Given the description of an element on the screen output the (x, y) to click on. 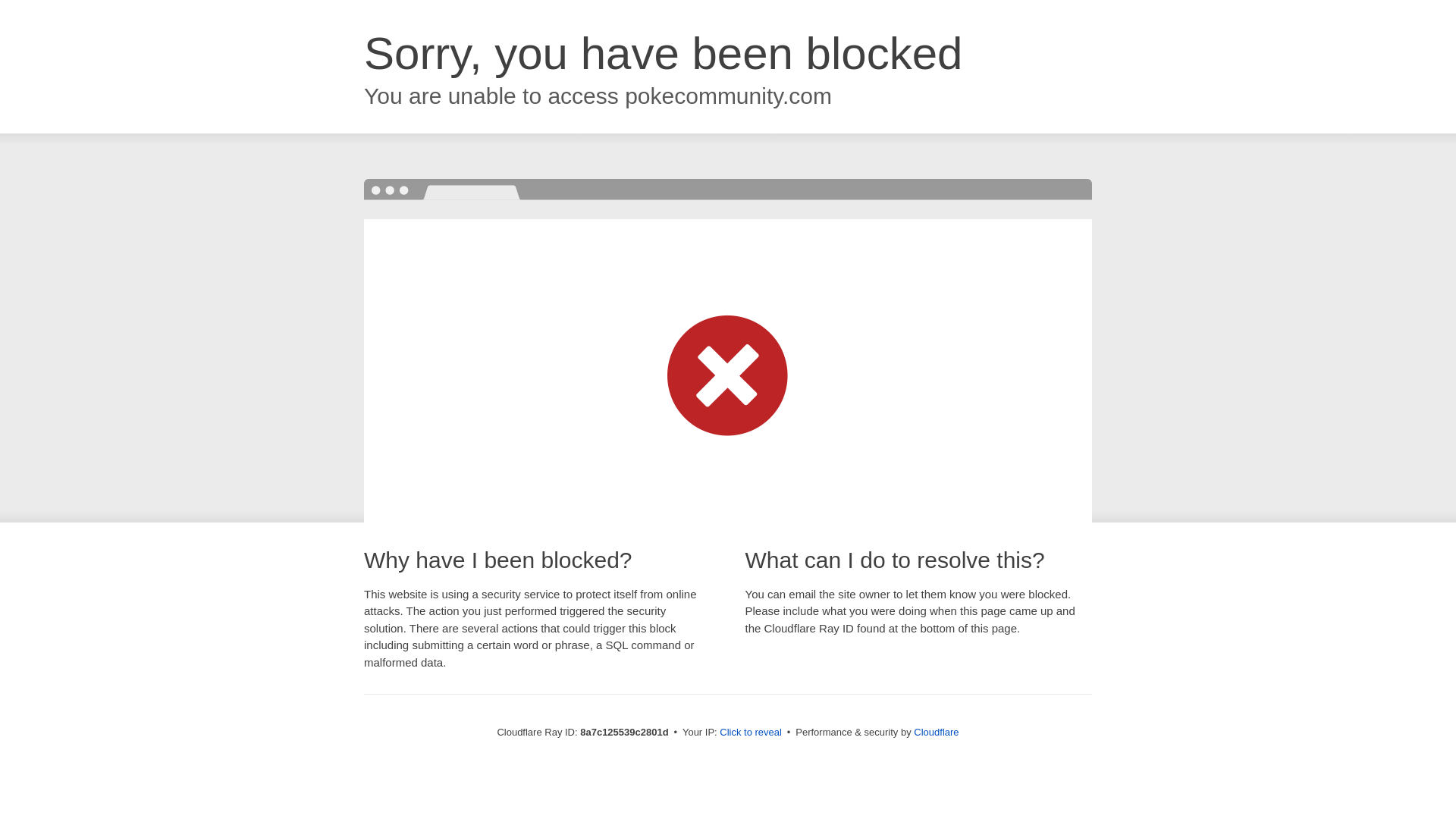
Cloudflare (936, 731)
Click to reveal (750, 732)
